Given the description of an element on the screen output the (x, y) to click on. 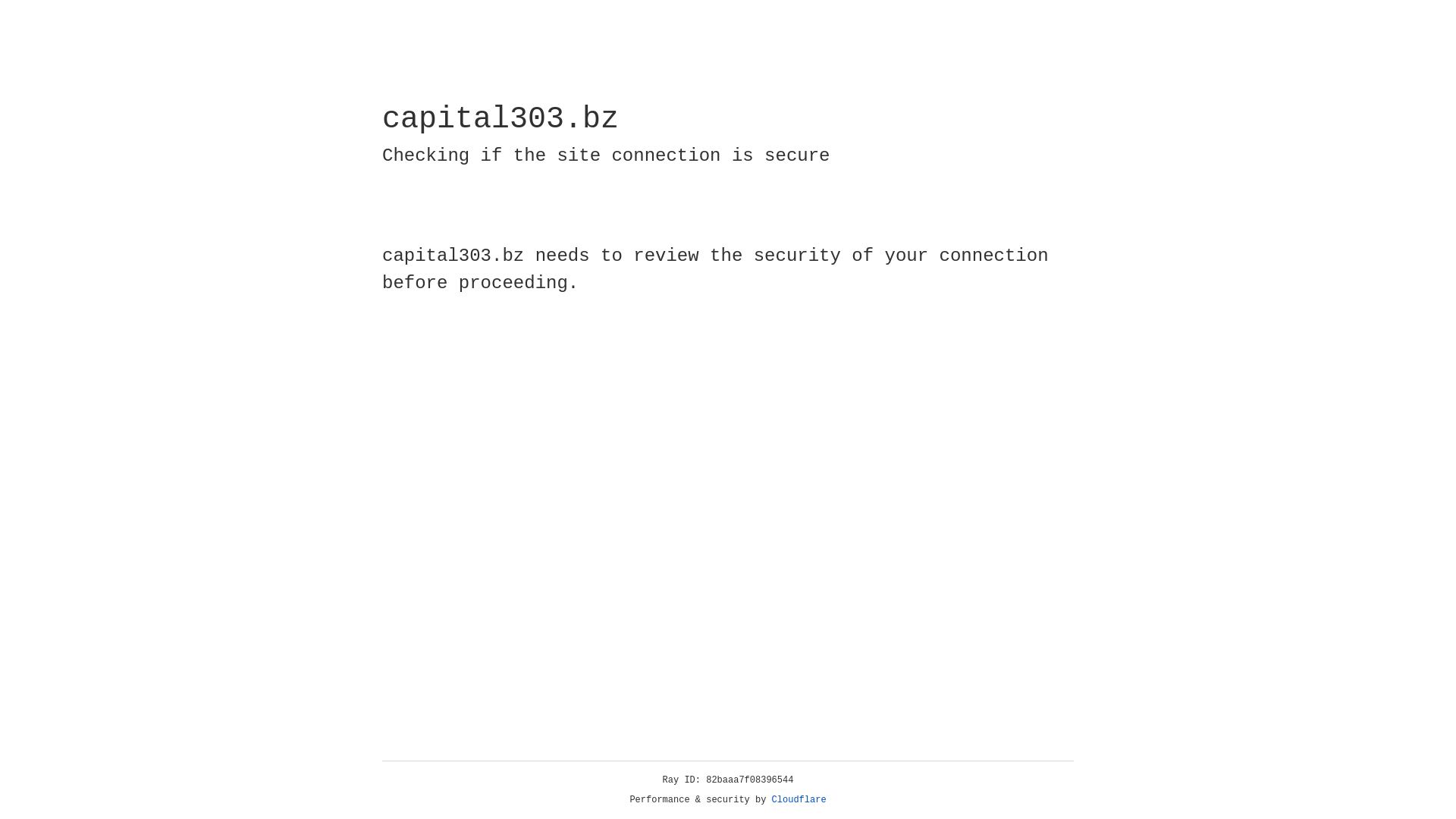
Cloudflare Element type: text (798, 799)
